Given the description of an element on the screen output the (x, y) to click on. 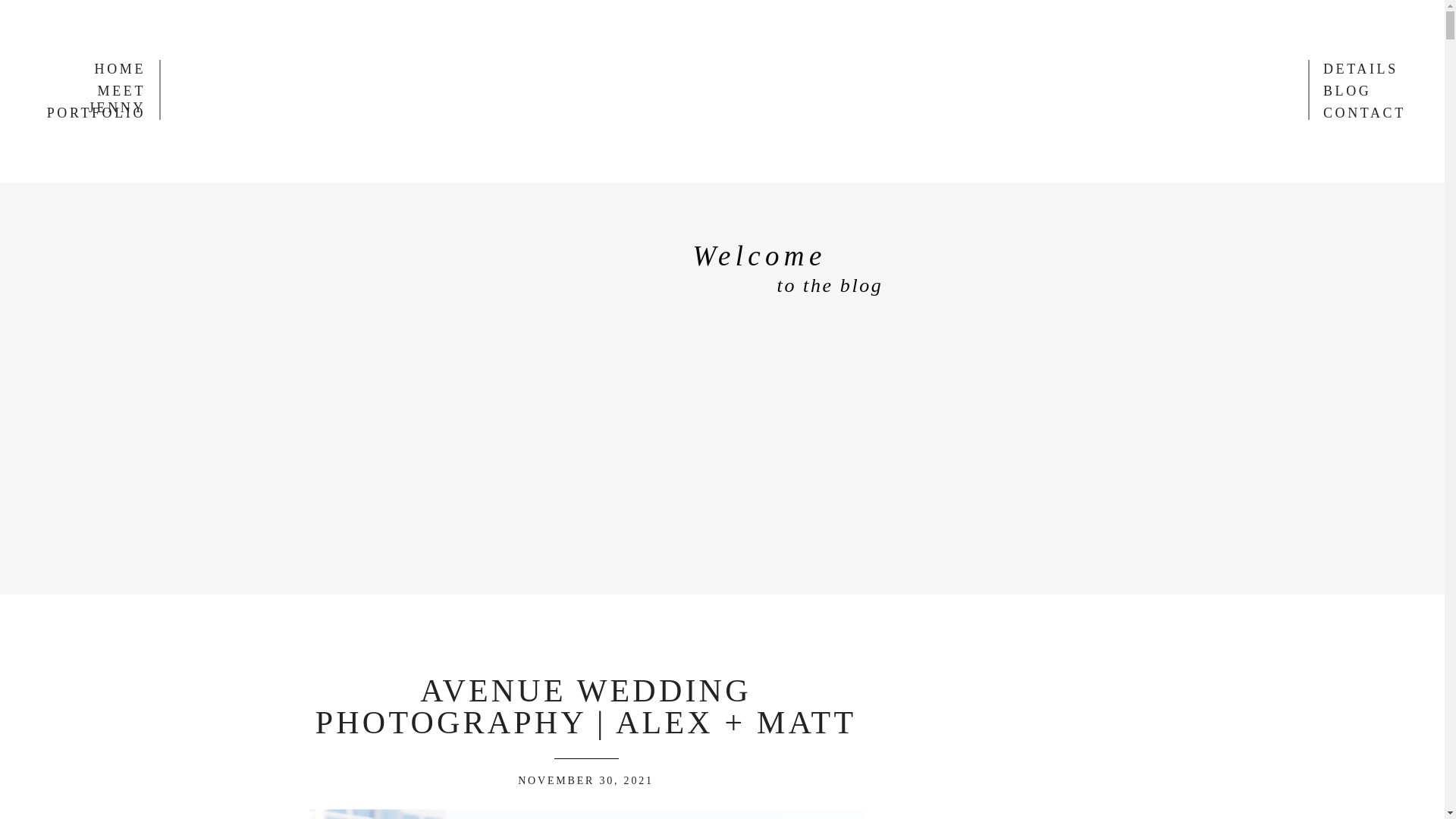
BLOG (855, 19)
PORTFOLIO (670, 19)
HOME (453, 19)
PORTFOLIO (89, 111)
BLOG (1366, 90)
MEET JENNY (89, 90)
CONTACT (941, 19)
DETAILS (774, 19)
MEET JENNY (550, 19)
HOME (102, 68)
